Given the description of an element on the screen output the (x, y) to click on. 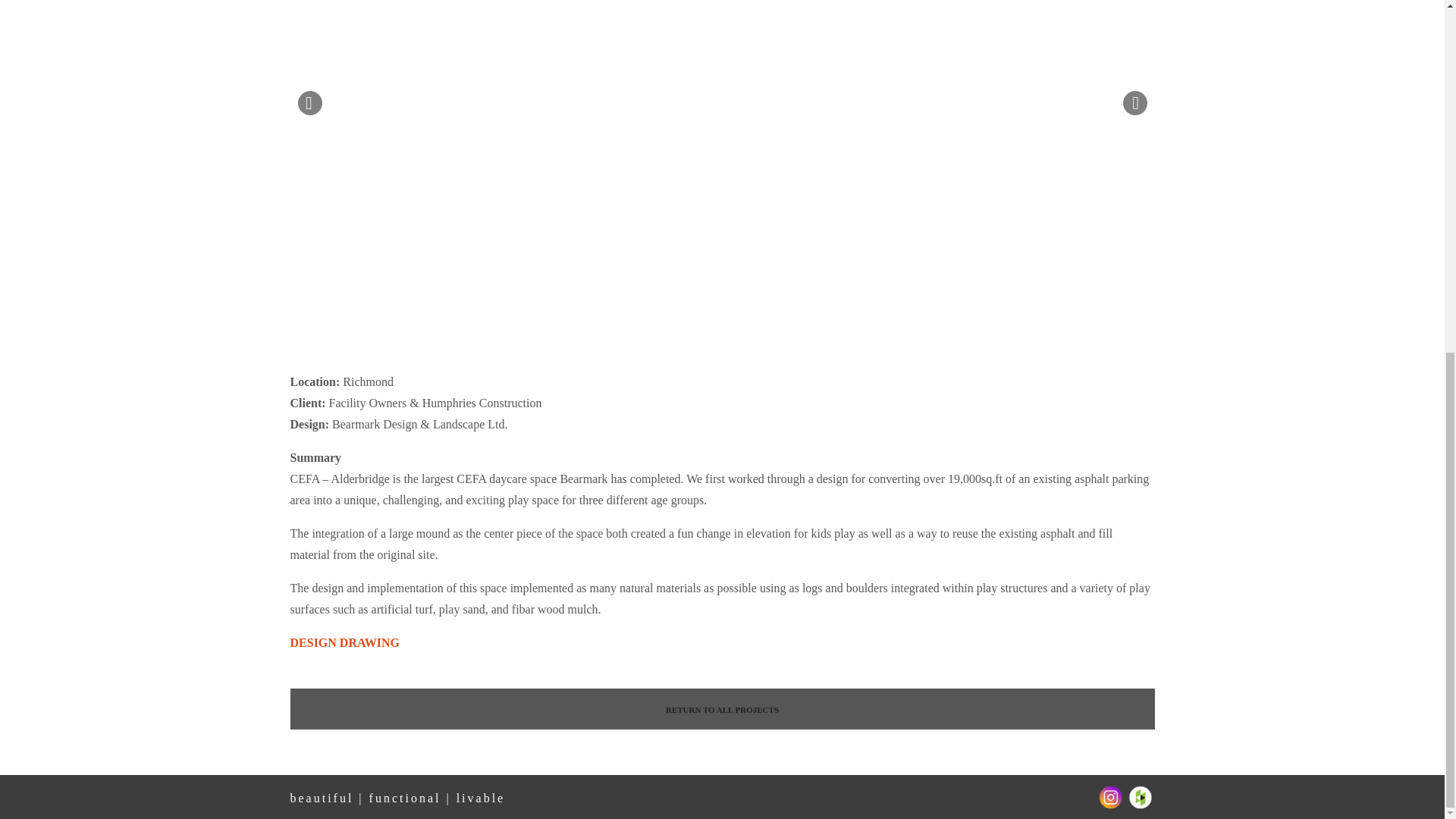
8 (1136, 326)
6 (1112, 326)
DESIGN DRAWING (343, 642)
RETURN TO ALL PROJECTS (721, 708)
1 (1051, 326)
5 (1099, 326)
7 (1124, 326)
4 (1088, 326)
2 (1063, 326)
3 (1075, 326)
